Given the description of an element on the screen output the (x, y) to click on. 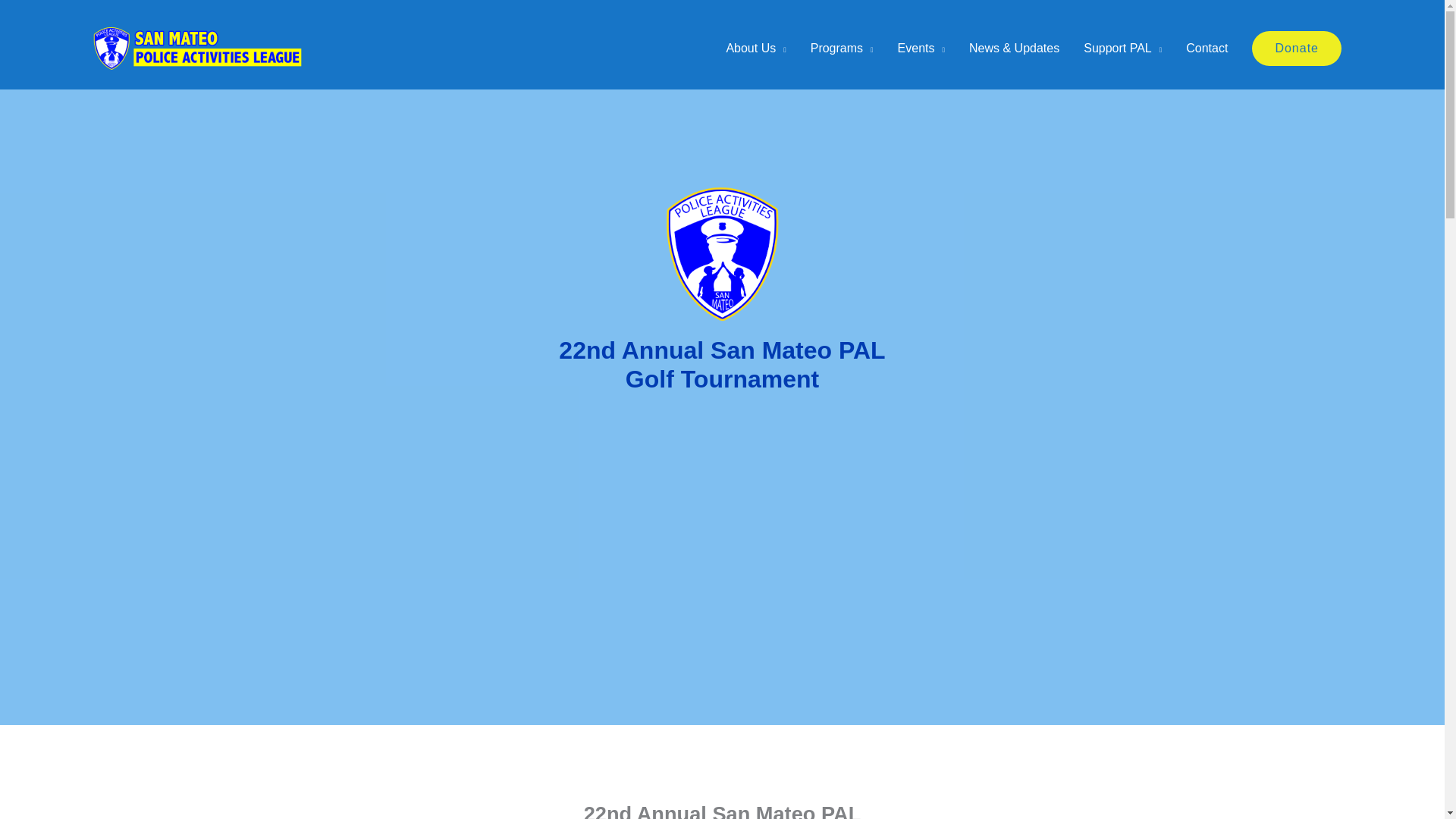
Programs (841, 48)
Contact (1206, 48)
Events (920, 48)
Support PAL (1122, 48)
Donate (1296, 48)
About Us (755, 48)
